Given the description of an element on the screen output the (x, y) to click on. 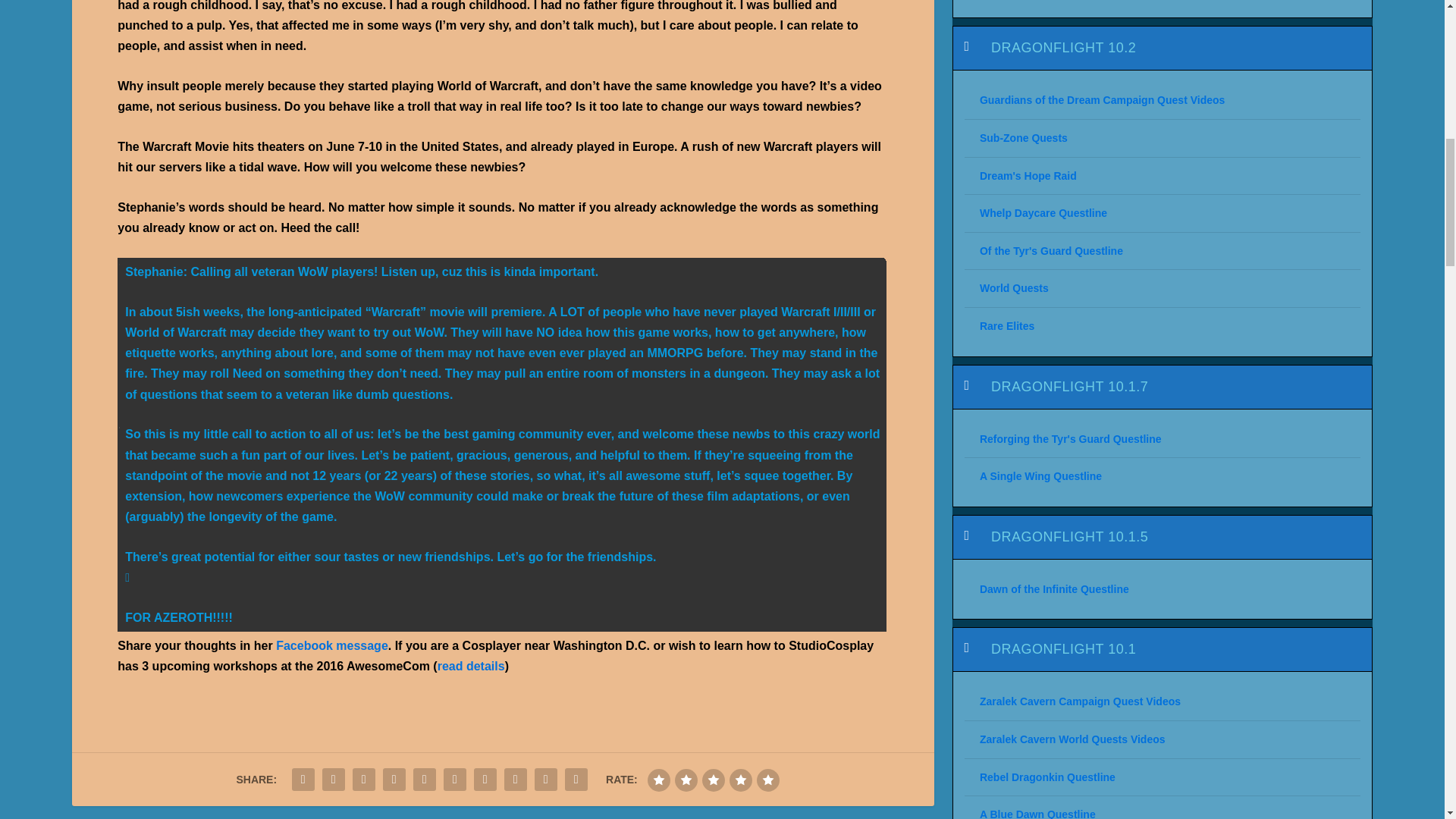
bad (658, 780)
poor (686, 780)
Facebook message (332, 645)
read details (471, 666)
